Given the description of an element on the screen output the (x, y) to click on. 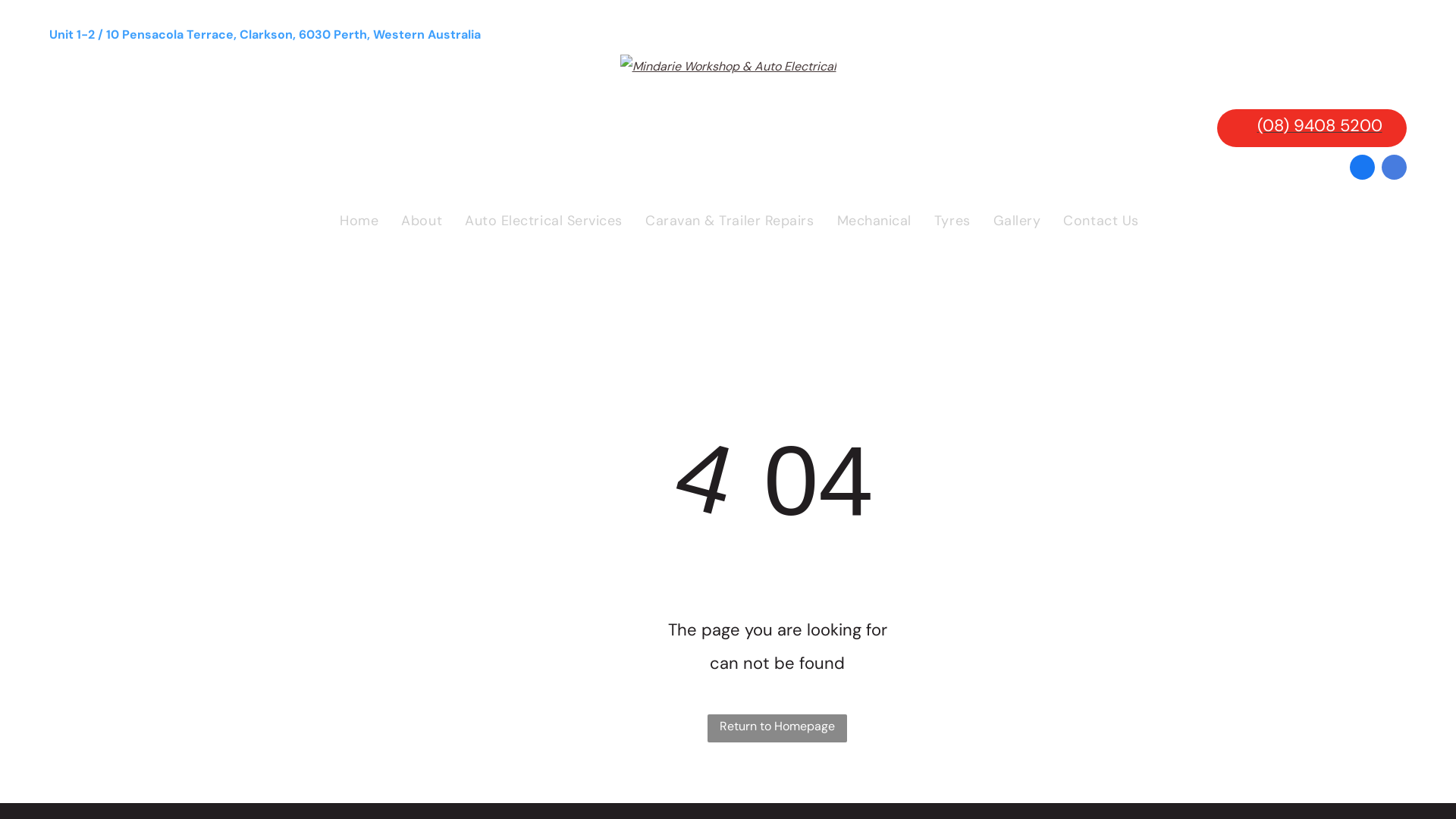
Home Element type: text (358, 220)
(08) 9408 5200 Element type: text (1311, 128)
Auto Electrical Services Element type: text (543, 220)
Gallery Element type: text (1017, 220)
About Element type: text (421, 220)
Mindarie Workshop & Auto Electrical Element type: hover (728, 66)
Return to Homepage Element type: text (777, 728)
Mechanical Element type: text (873, 220)
Tyres Element type: text (952, 220)
Caravan & Trailer Repairs Element type: text (729, 220)
Contact Us Element type: text (1100, 220)
